Given the description of an element on the screen output the (x, y) to click on. 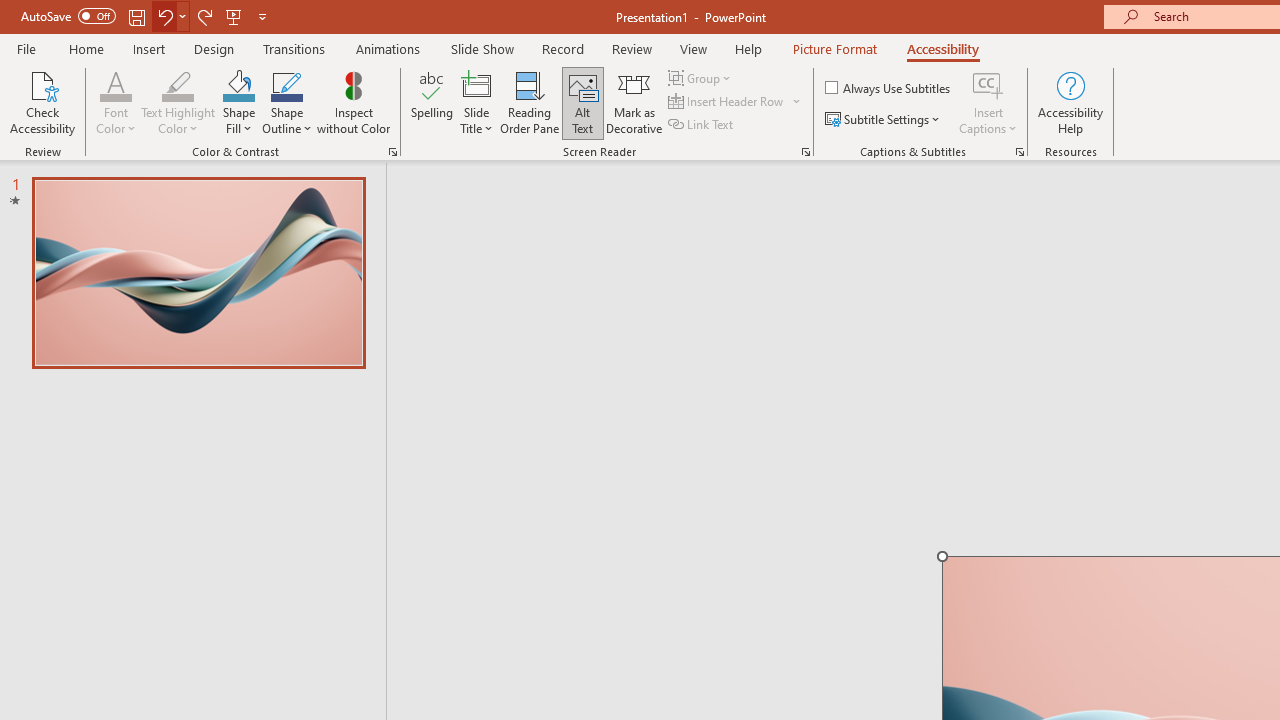
Accessibility Help (1070, 102)
Subtitle Settings (884, 119)
Always Use Subtitles (889, 87)
